Given the description of an element on the screen output the (x, y) to click on. 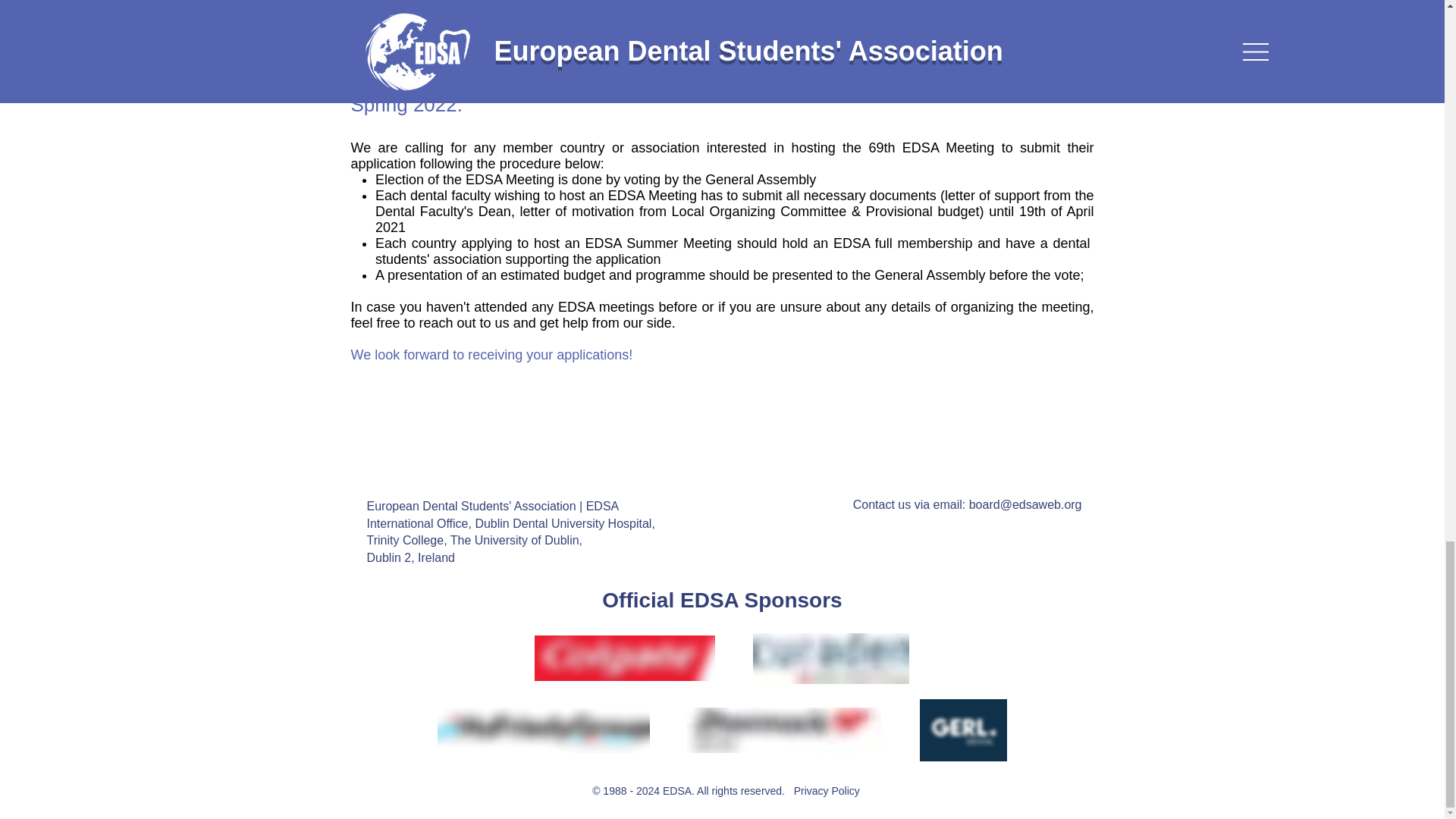
Privacy Policy (826, 790)
